Given the description of an element on the screen output the (x, y) to click on. 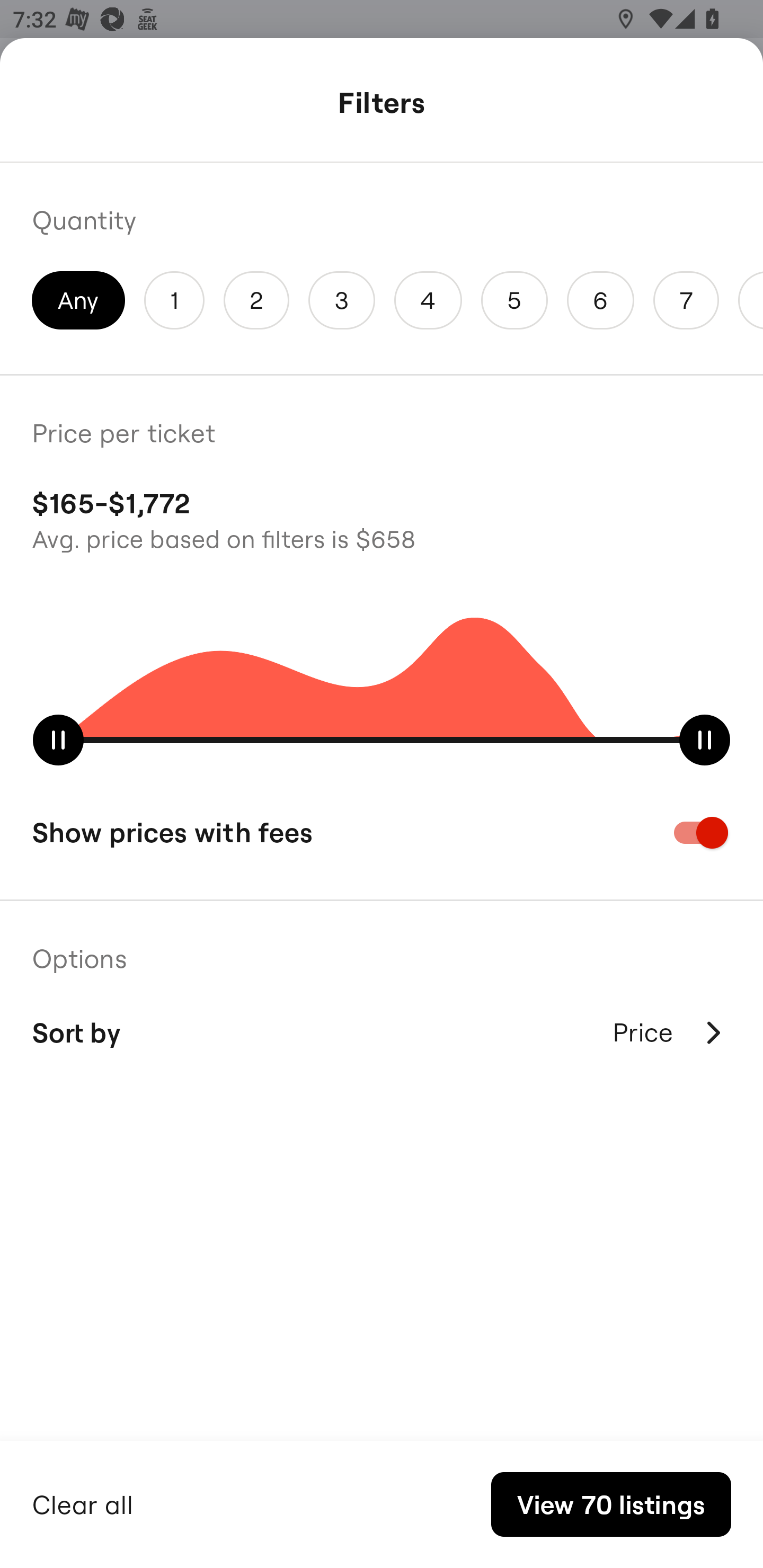
Back Hamilton - New York Thu, Mar 21, 7 PM Info (381, 104)
Any (78, 300)
1 (173, 300)
2 (256, 300)
3 (341, 300)
4 (427, 300)
5 (514, 300)
6 (601, 300)
7 (685, 300)
$165-$1,772 Avg. price based on filters is $658 (381, 518)
Show prices with fees (381, 832)
Sort by Price (381, 1032)
Clear all (83, 1502)
View 70 listings (610, 1504)
